Given the description of an element on the screen output the (x, y) to click on. 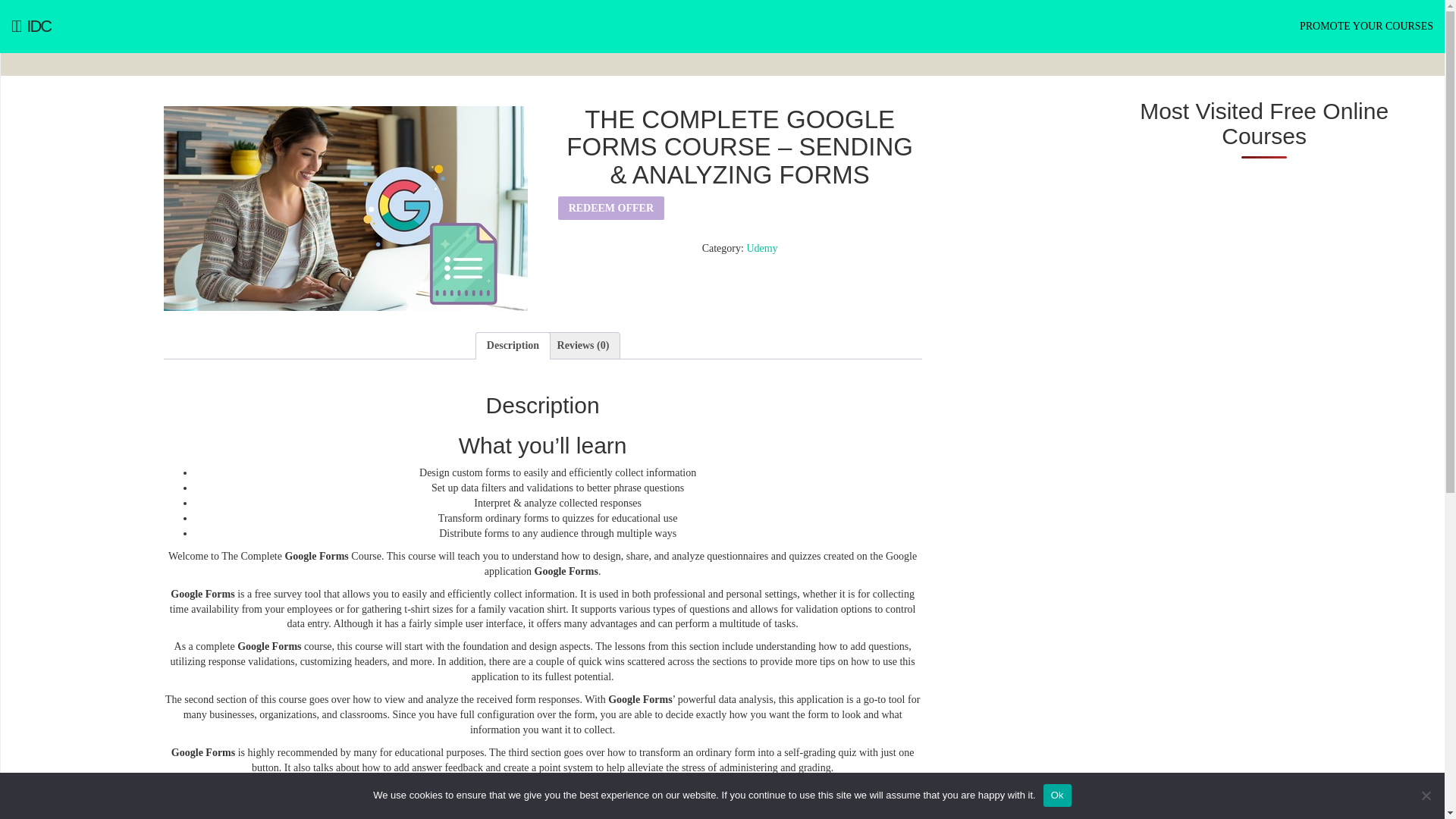
No (1425, 795)
REDEEM OFFER (610, 208)
  IDC (31, 26)
Ok (1057, 794)
Description (512, 345)
Udemy (761, 247)
